Given the description of an element on the screen output the (x, y) to click on. 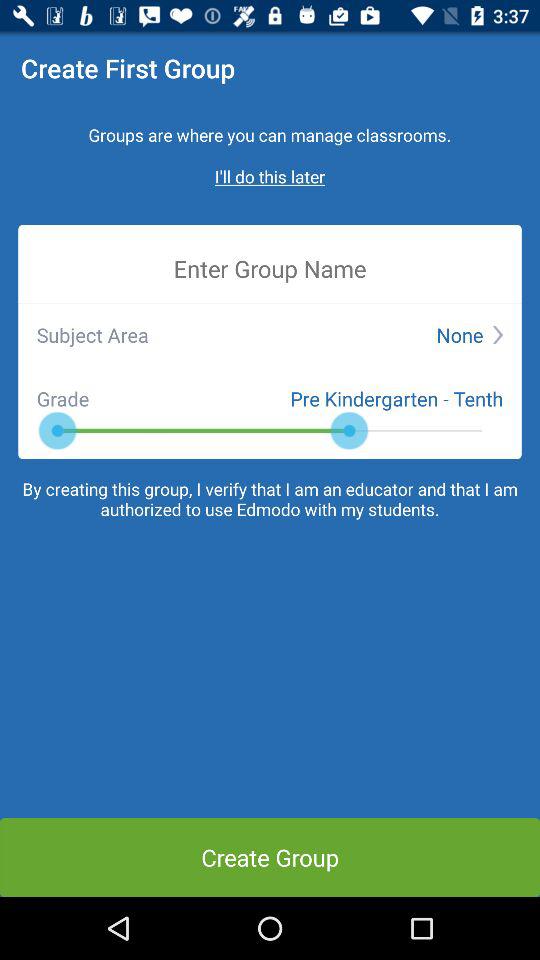
open item below the i ll do (269, 268)
